Given the description of an element on the screen output the (x, y) to click on. 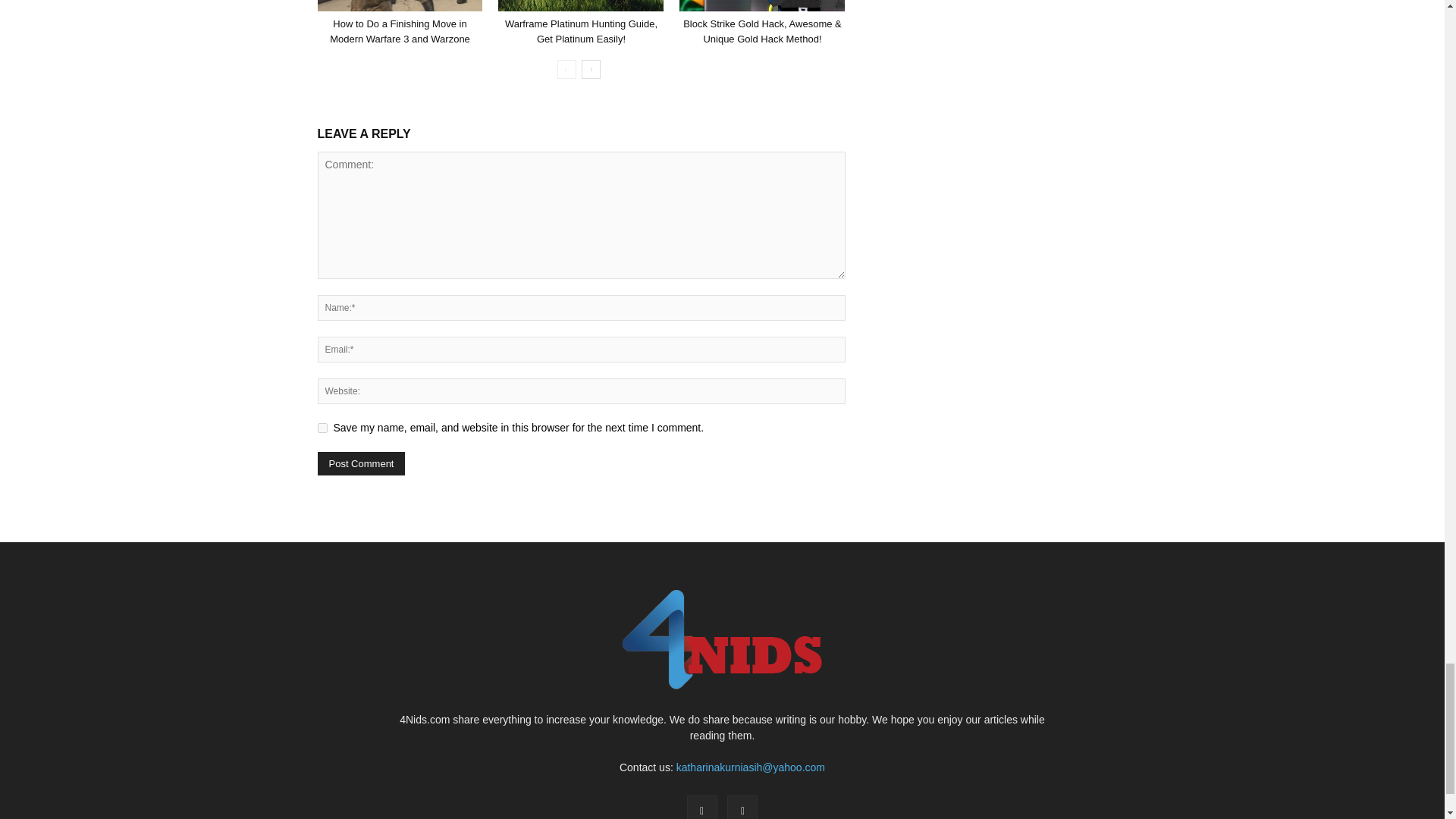
Post Comment (360, 463)
How to Do a Finishing Move in Modern Warfare 3 and Warzone (400, 31)
yes (321, 428)
How to Do a Finishing Move in Modern Warfare 3 and Warzone (399, 5)
